Given the description of an element on the screen output the (x, y) to click on. 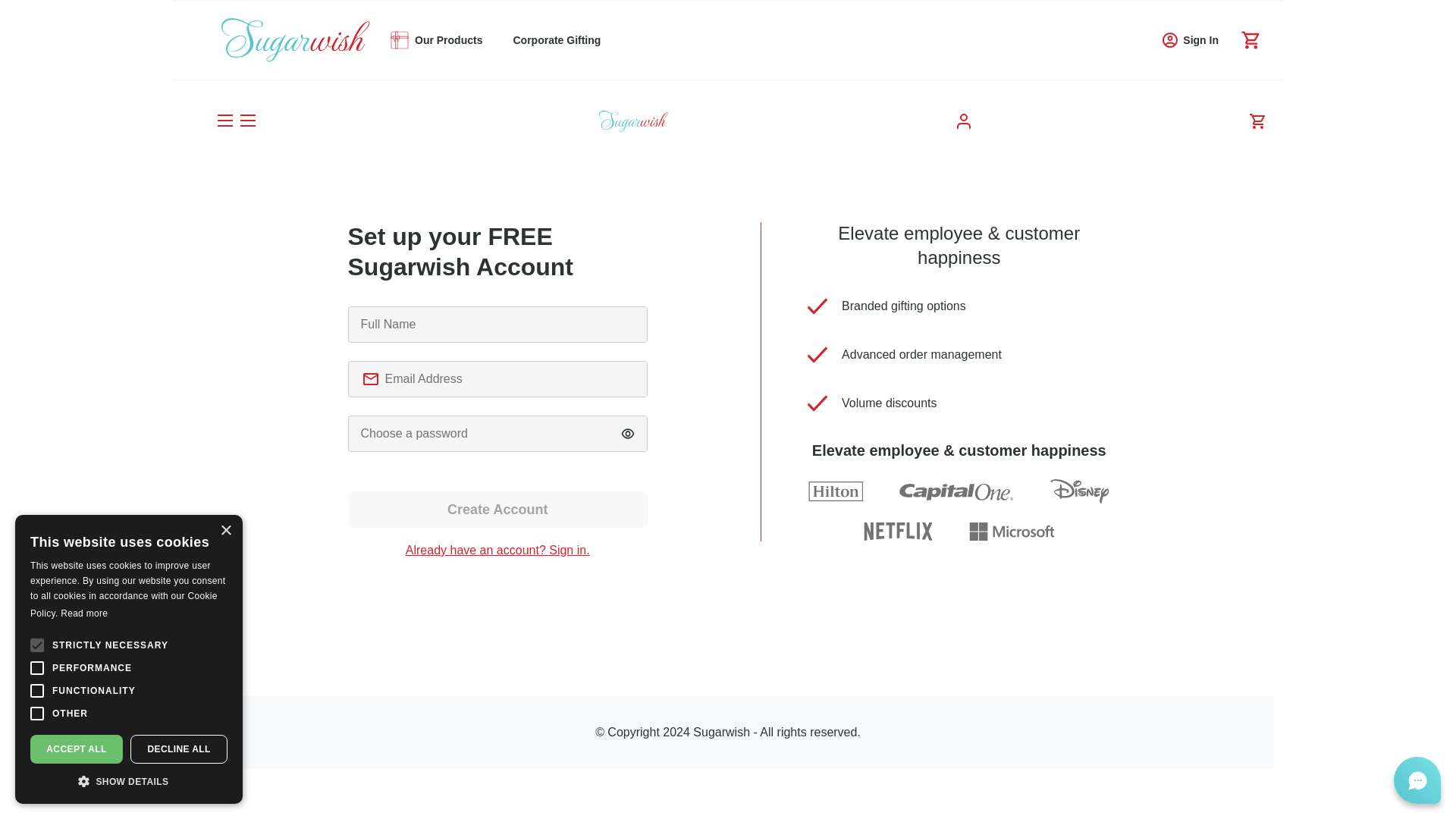
Already have an account? Sign in. (497, 549)
Read more (84, 613)
Corporate Gifting (555, 40)
Our Products (439, 40)
Create Account (496, 509)
